Given the description of an element on the screen output the (x, y) to click on. 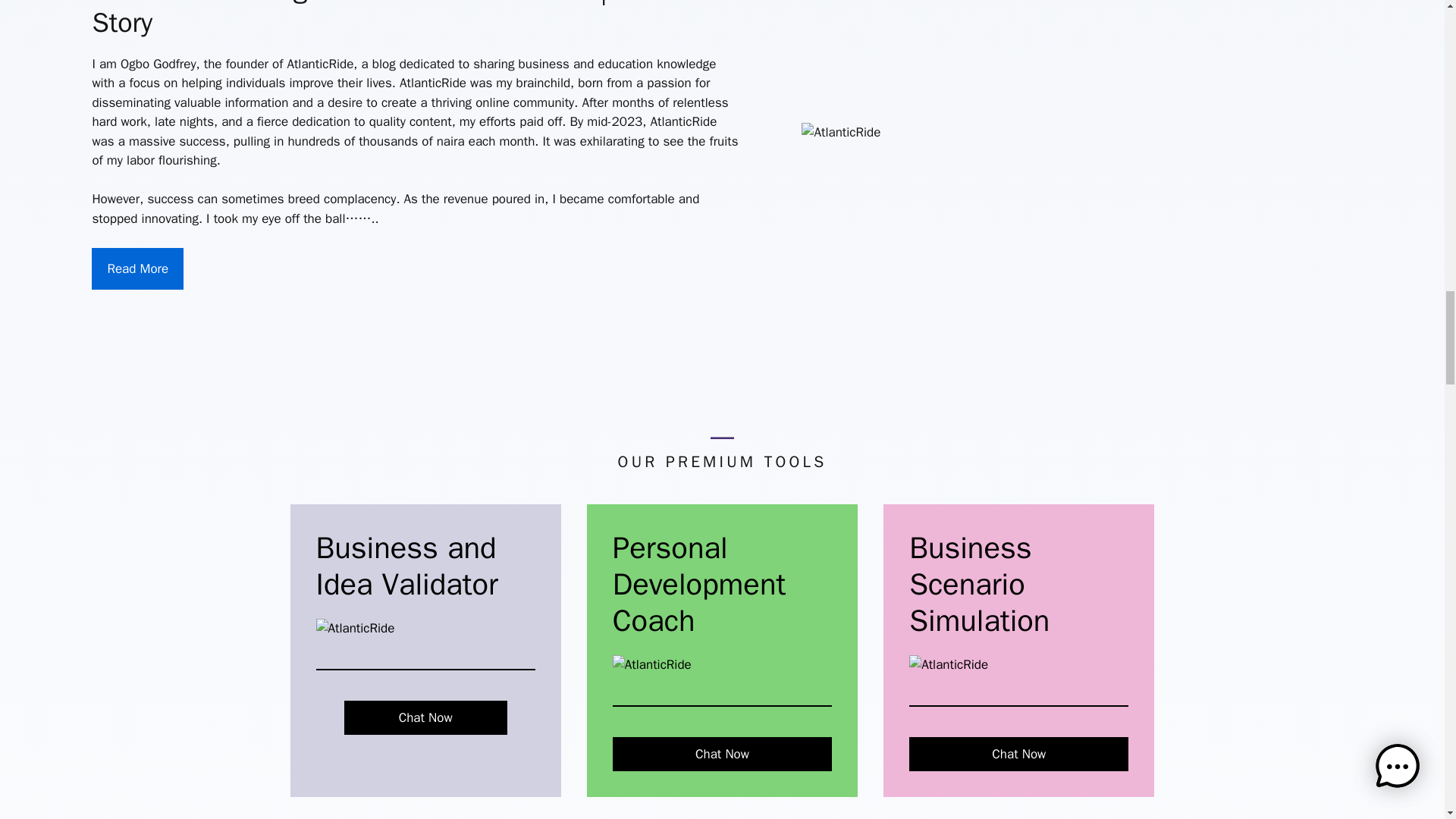
Home 10 (651, 664)
Chat Now (721, 754)
Home 8 (841, 132)
Chat Now (424, 718)
Home 11 (948, 664)
Chat Now (1018, 754)
Home 9 (354, 628)
Read More (137, 269)
